Given the description of an element on the screen output the (x, y) to click on. 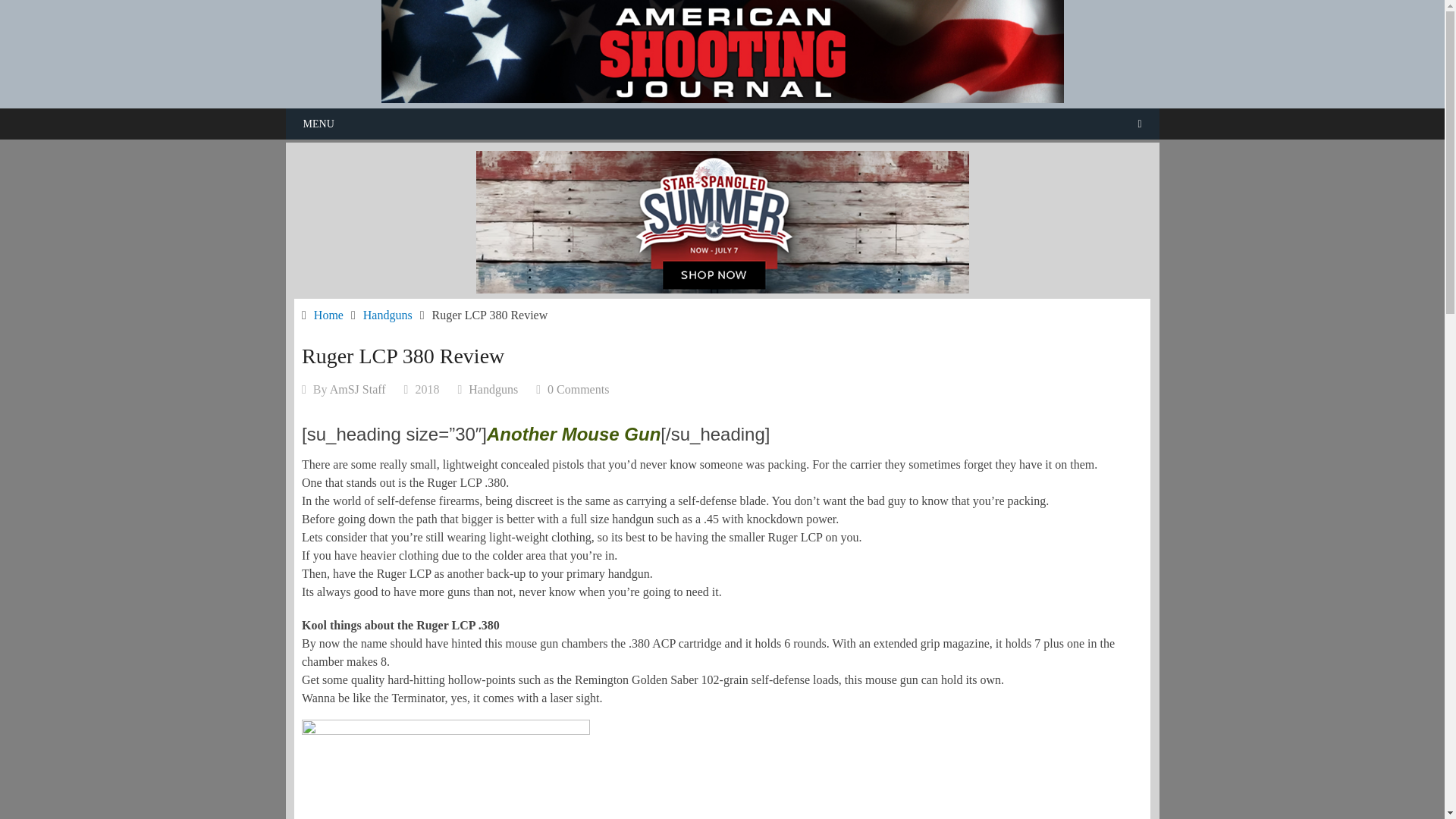
MENU (721, 123)
Posts by AmSJ Staff (357, 389)
